Given the description of an element on the screen output the (x, y) to click on. 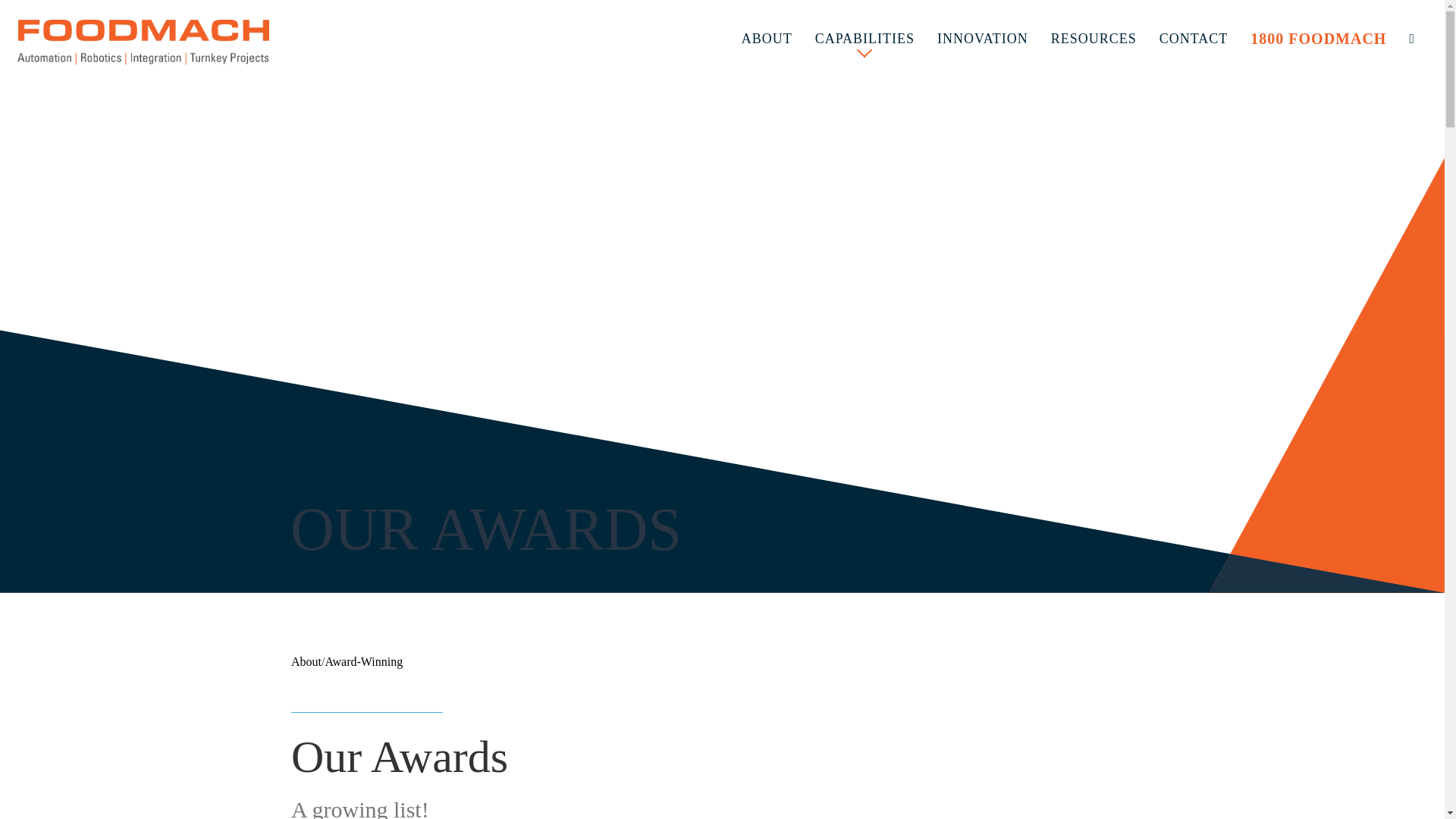
ABOUT (766, 38)
CAPABILITIES (864, 31)
